Given the description of an element on the screen output the (x, y) to click on. 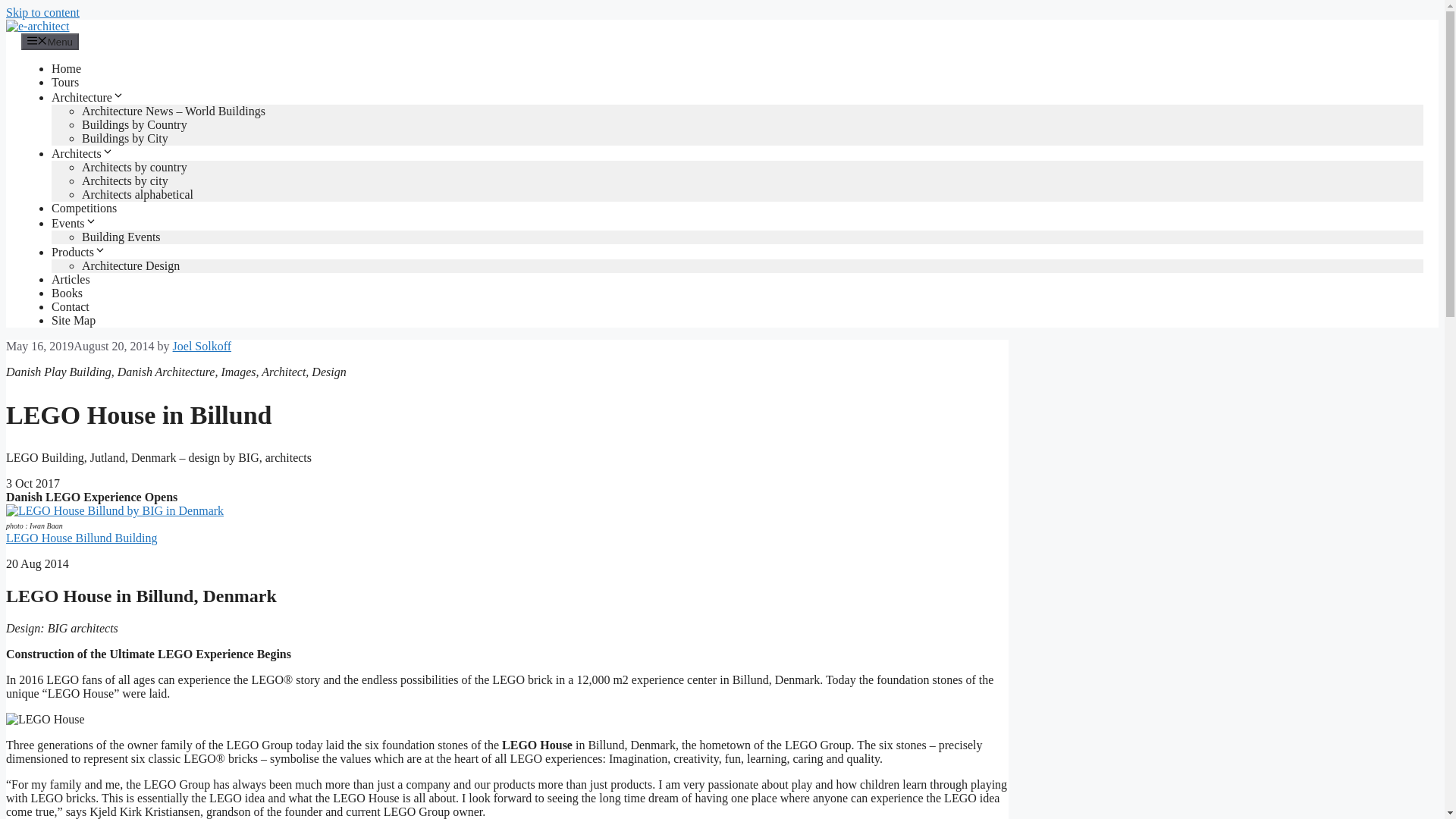
Buildings by City (124, 137)
Joel Solkoff (202, 345)
Products (78, 251)
View all posts by Joel Solkoff (202, 345)
Home (65, 68)
Home (65, 68)
Buildings by Country (134, 124)
Architects alphabetical (137, 194)
Competitions (83, 207)
Contact (69, 306)
Articles (70, 278)
Architecture Design (130, 265)
Menu (49, 41)
Architects (81, 153)
Architecture (86, 97)
